Given the description of an element on the screen output the (x, y) to click on. 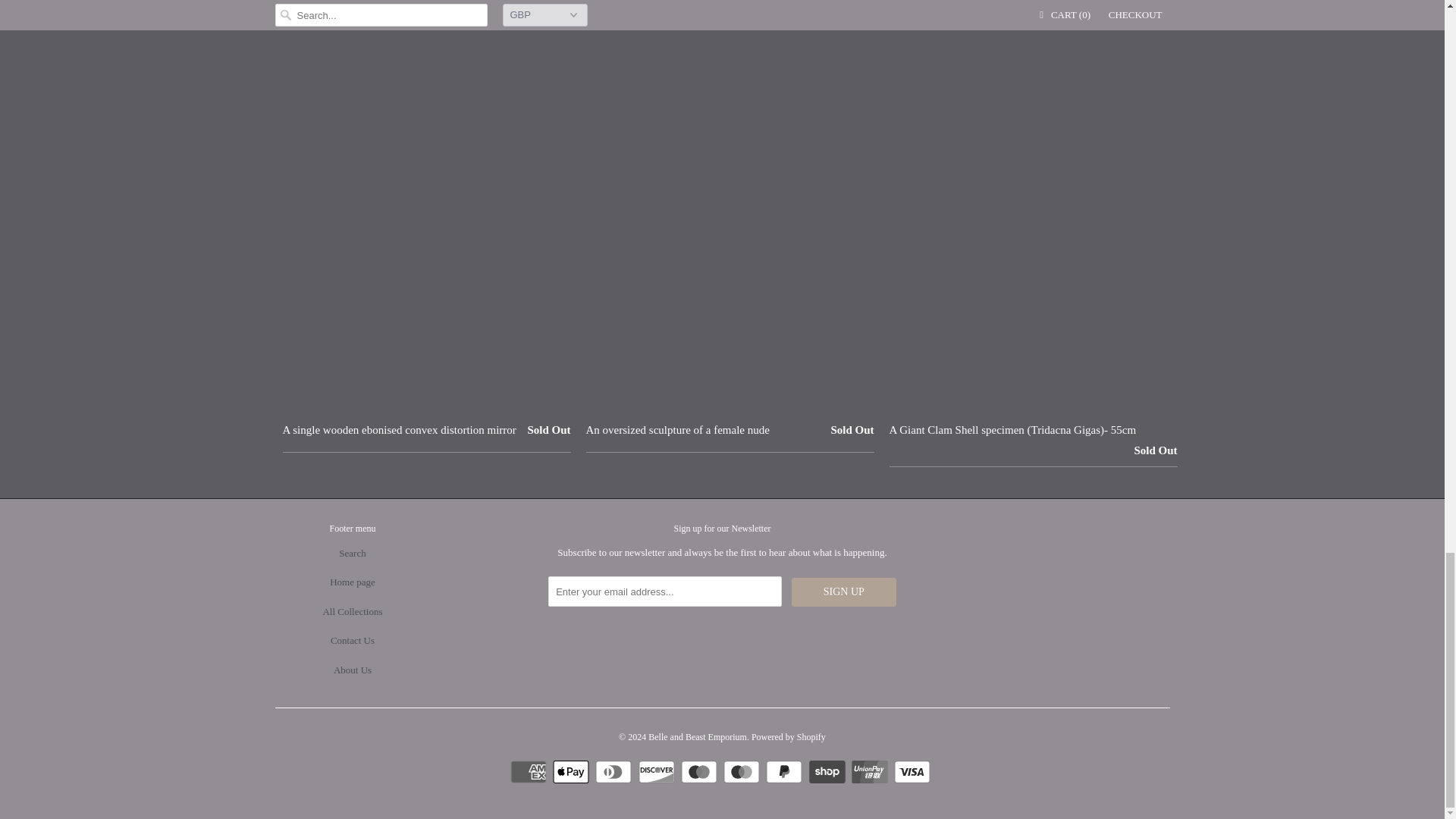
Sign Up (844, 592)
